Given the description of an element on the screen output the (x, y) to click on. 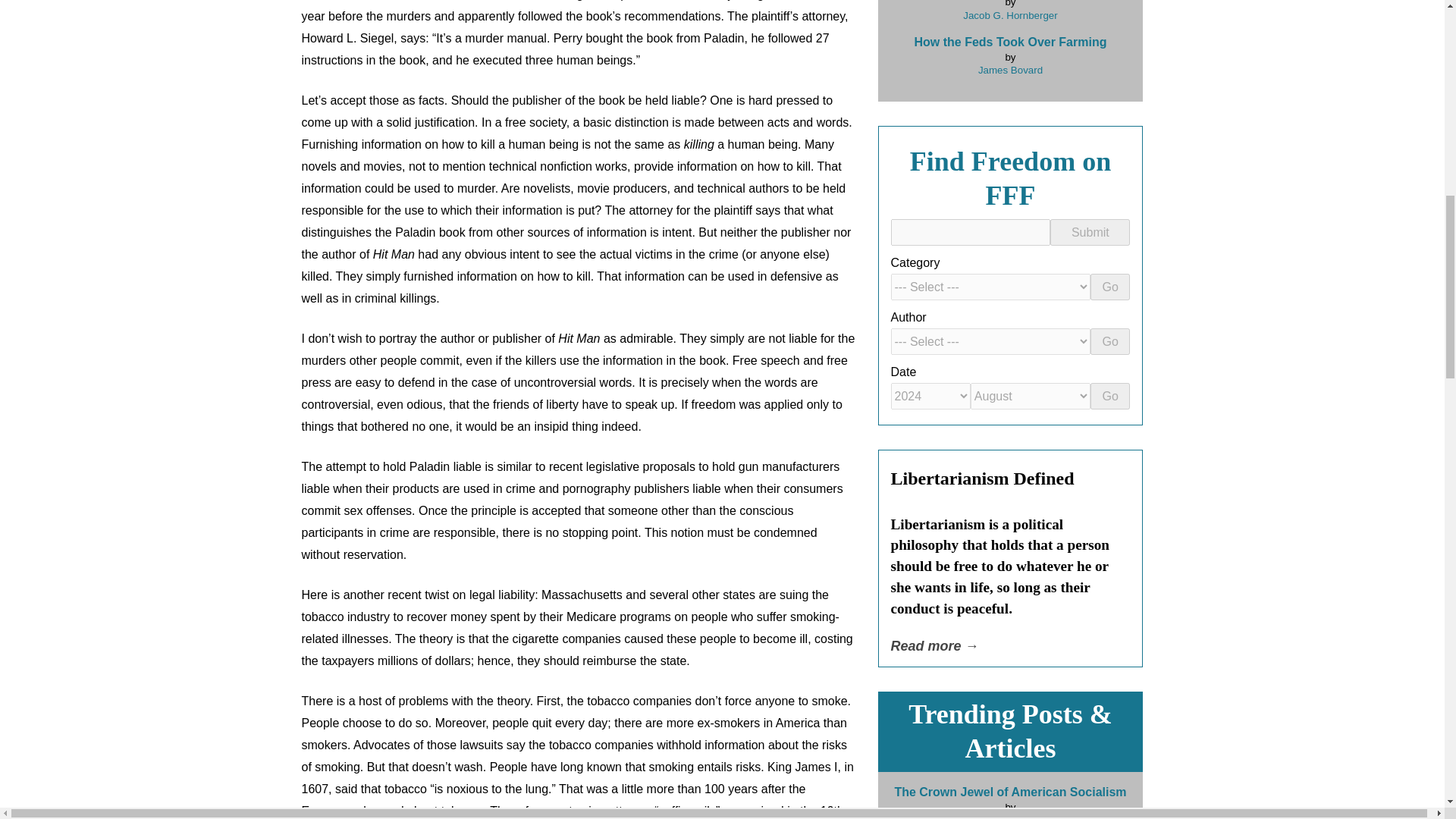
Go (1110, 286)
Submit (1089, 232)
Go (1110, 341)
Go (1110, 396)
